Given the description of an element on the screen output the (x, y) to click on. 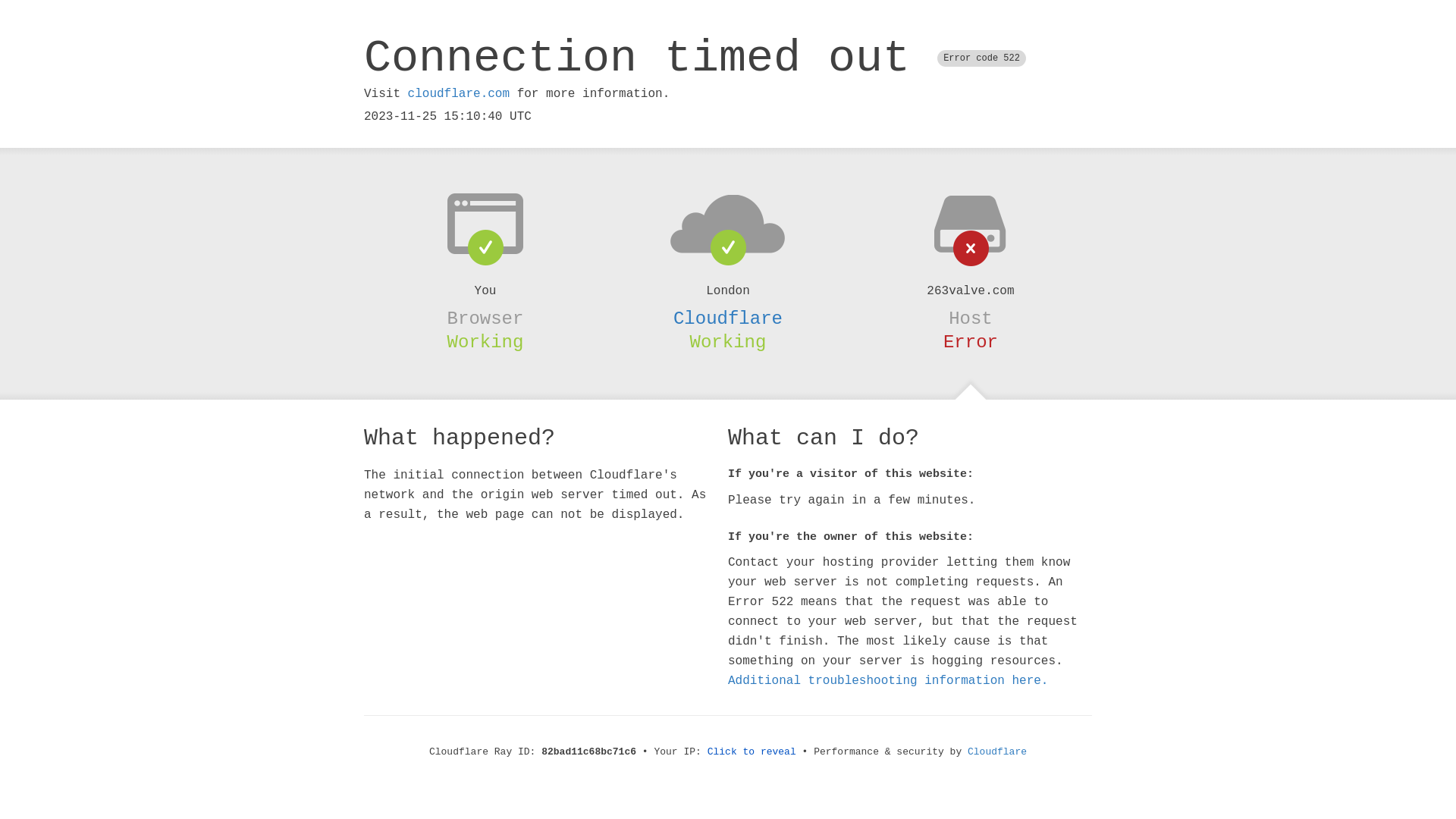
Click to reveal Element type: text (751, 751)
Additional troubleshooting information here. Element type: text (888, 680)
Cloudflare Element type: text (996, 751)
cloudflare.com Element type: text (458, 93)
Cloudflare Element type: text (727, 318)
